Given the description of an element on the screen output the (x, y) to click on. 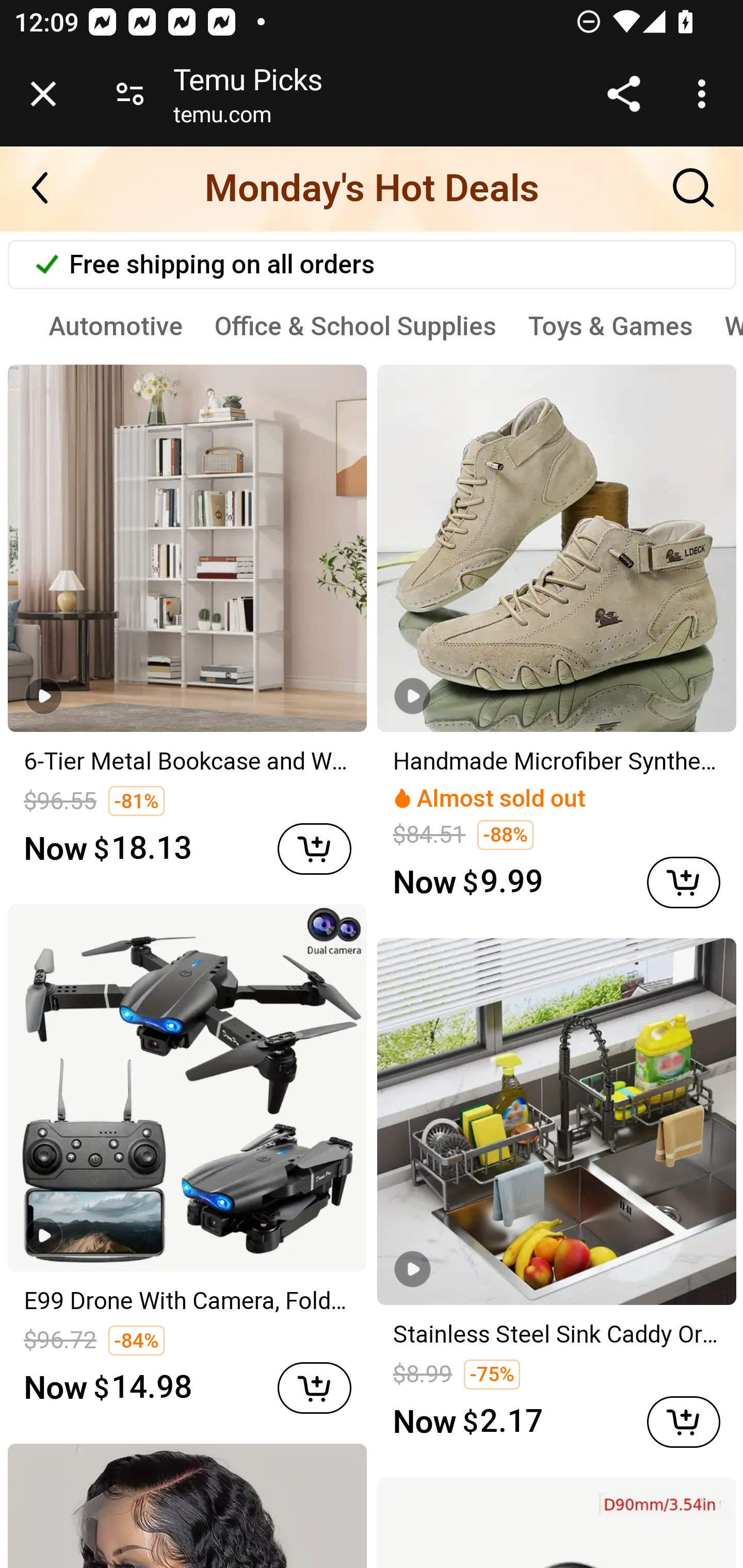
Close tab (43, 93)
Share link address (623, 93)
Customize and control Google Chrome (705, 93)
Connection is secure (129, 93)
temu.com (222, 117)
Back (50, 188)
